Given the description of an element on the screen output the (x, y) to click on. 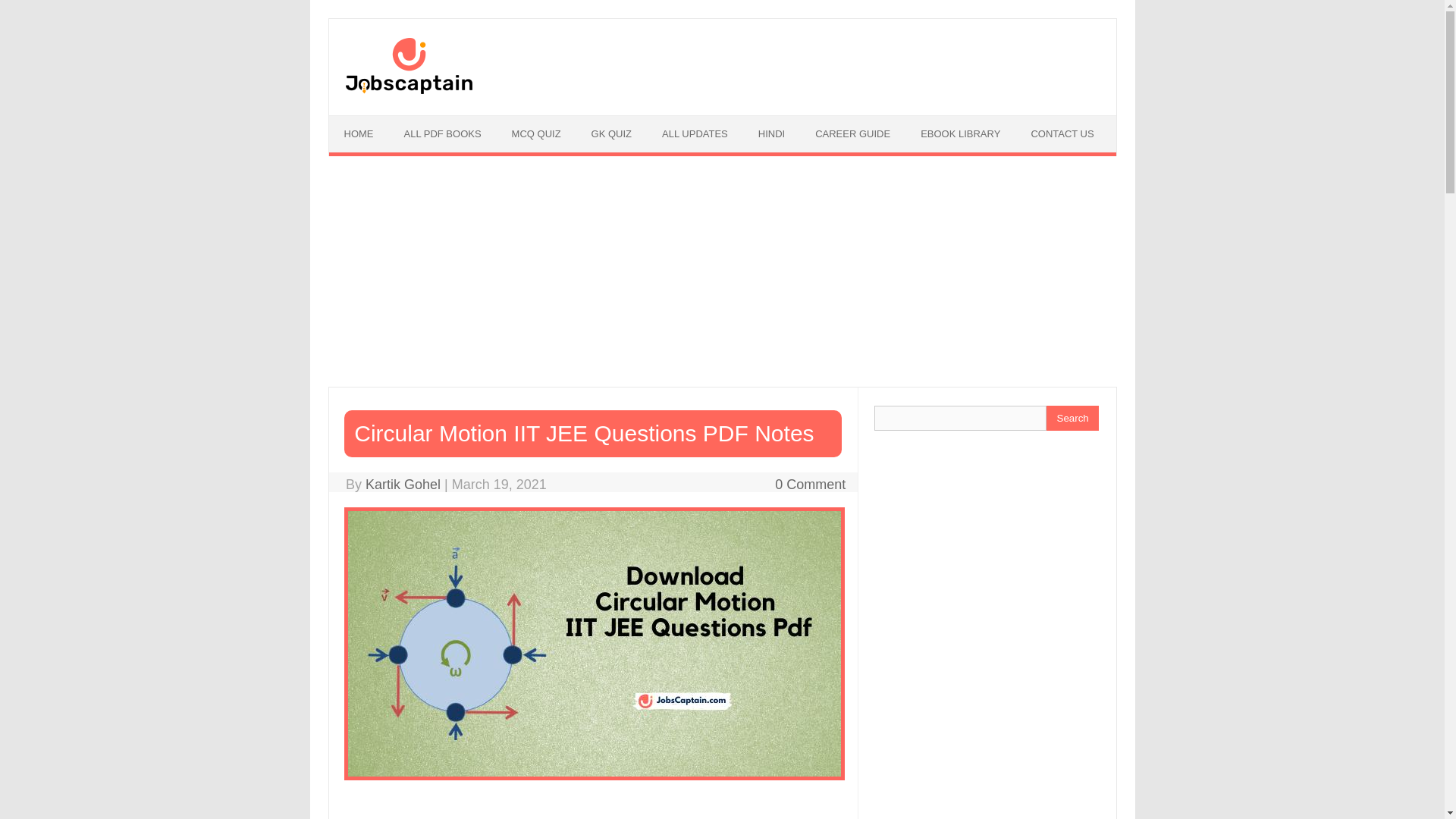
EBOOK LIBRARY (959, 134)
0 Comment (809, 484)
Skip to content (374, 121)
ALL UPDATES (694, 134)
CONTACT US (1061, 134)
ALL PDF BOOKS (442, 134)
CAREER GUIDE (852, 134)
GK QUIZ (611, 134)
MCQ QUIZ (536, 134)
